Given the description of an element on the screen output the (x, y) to click on. 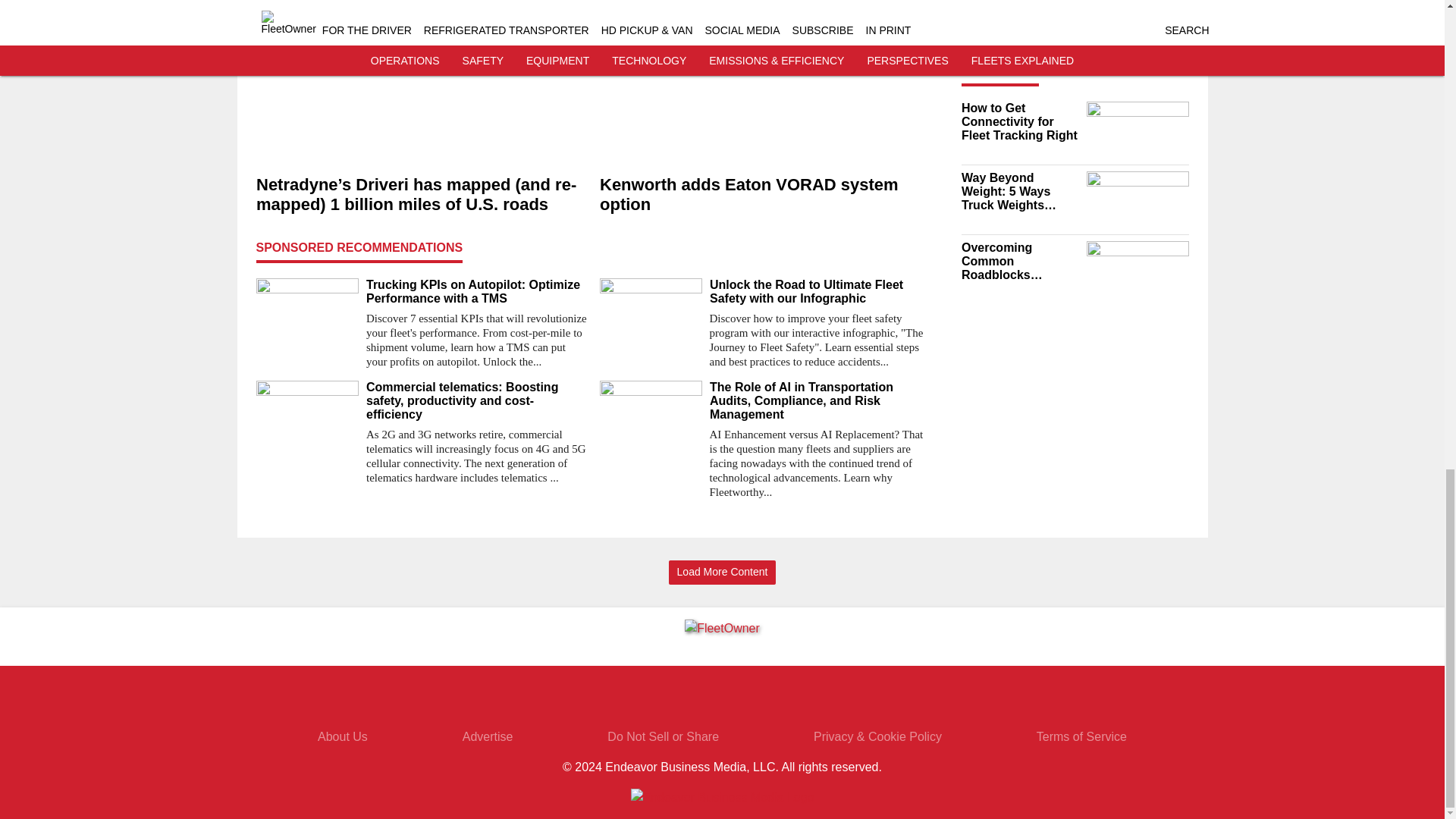
Trucking KPIs on Autopilot: Optimize Performance with a TMS (476, 291)
Kenworth adds Eaton VORAD system option (764, 195)
